Given the description of an element on the screen output the (x, y) to click on. 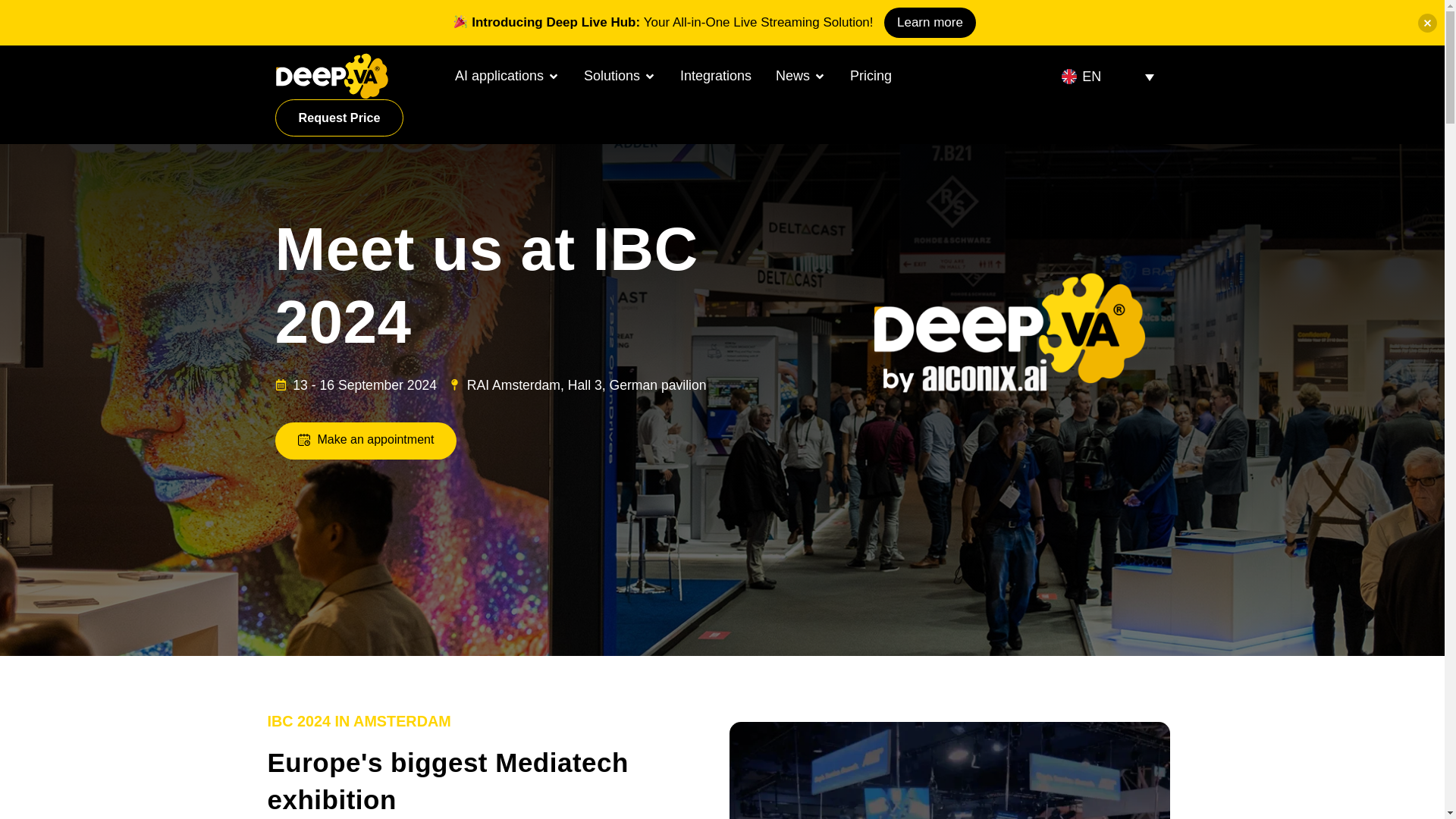
Integrations (715, 75)
